Given the description of an element on the screen output the (x, y) to click on. 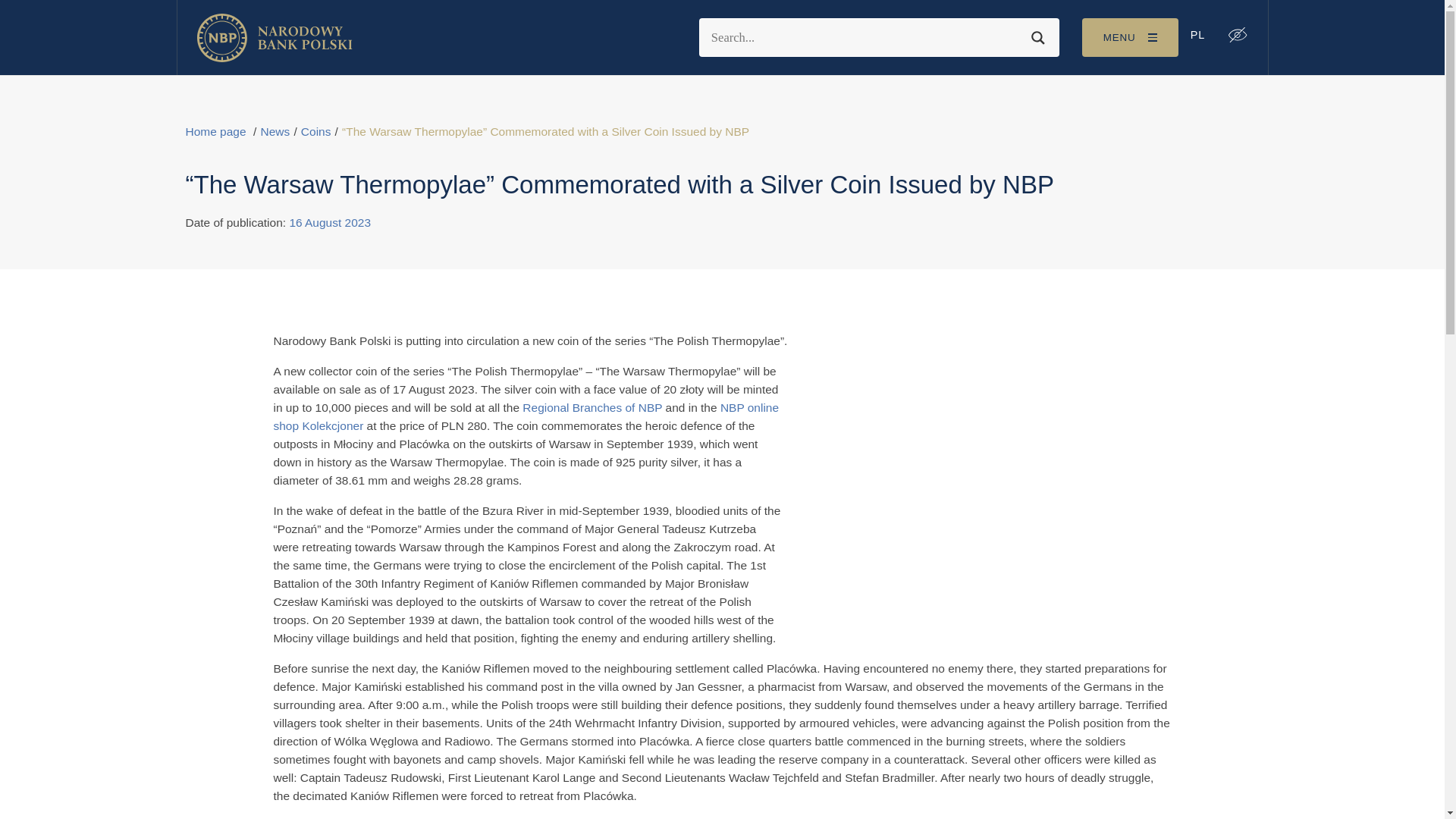
MENU (1129, 37)
